Given the description of an element on the screen output the (x, y) to click on. 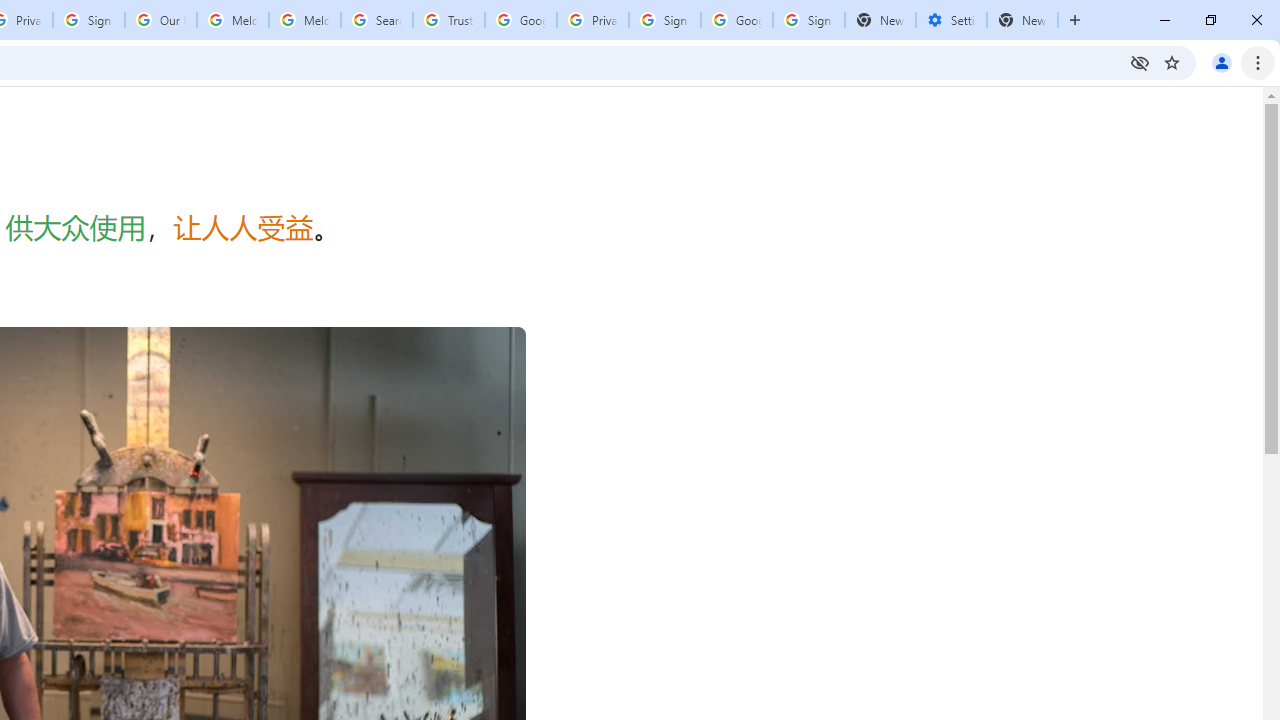
Settings - Addresses and more (951, 20)
Trusted Information and Content - Google Safety Center (449, 20)
Search our Doodle Library Collection - Google Doodles (376, 20)
